Given the description of an element on the screen output the (x, y) to click on. 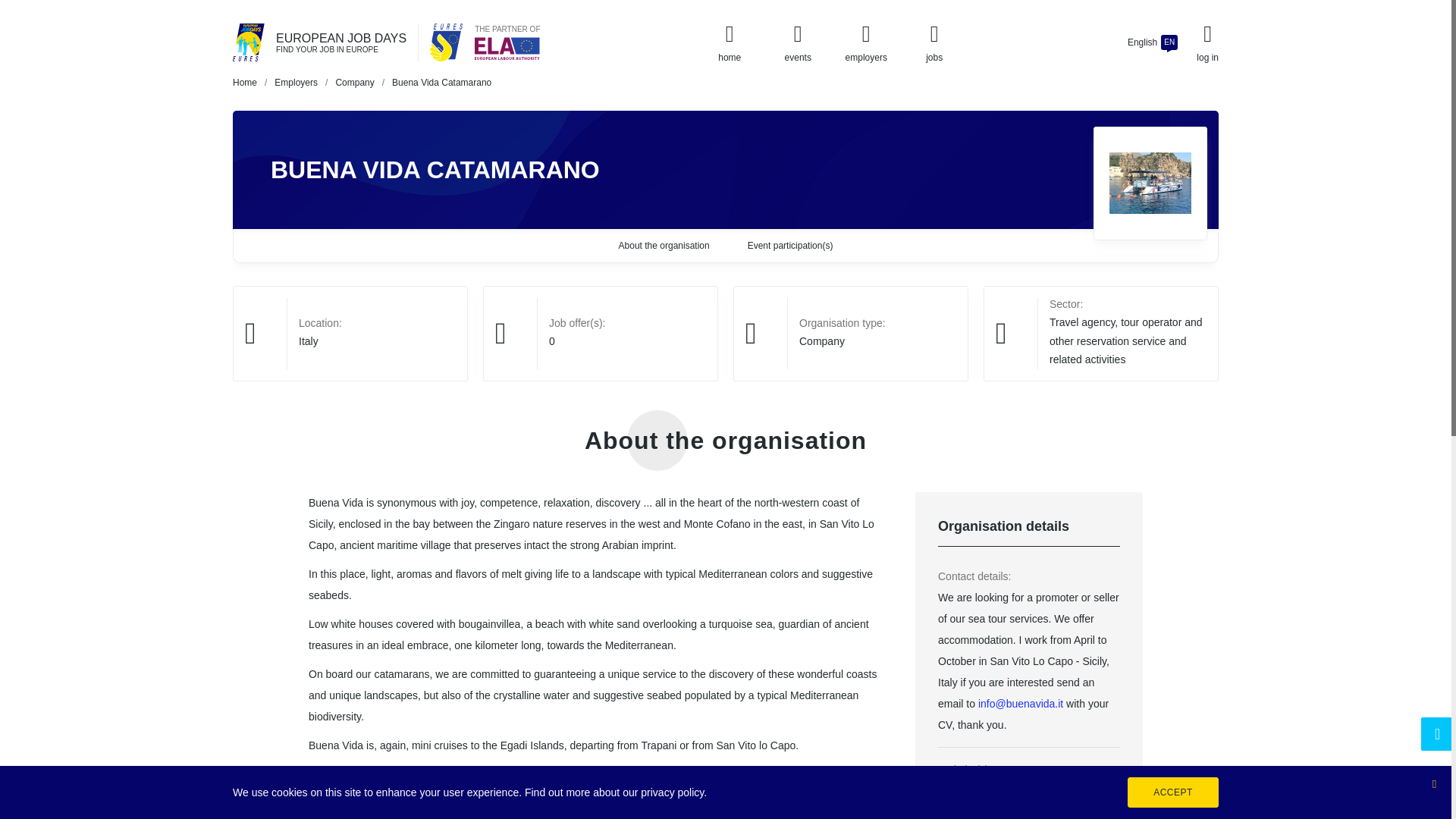
About the organisation (664, 245)
jobs (933, 42)
Close (1433, 782)
Home (244, 81)
Italy (308, 340)
home (729, 42)
Skip to content (13, 7)
European Labour Authority (507, 47)
Company (354, 81)
